Given the description of an element on the screen output the (x, y) to click on. 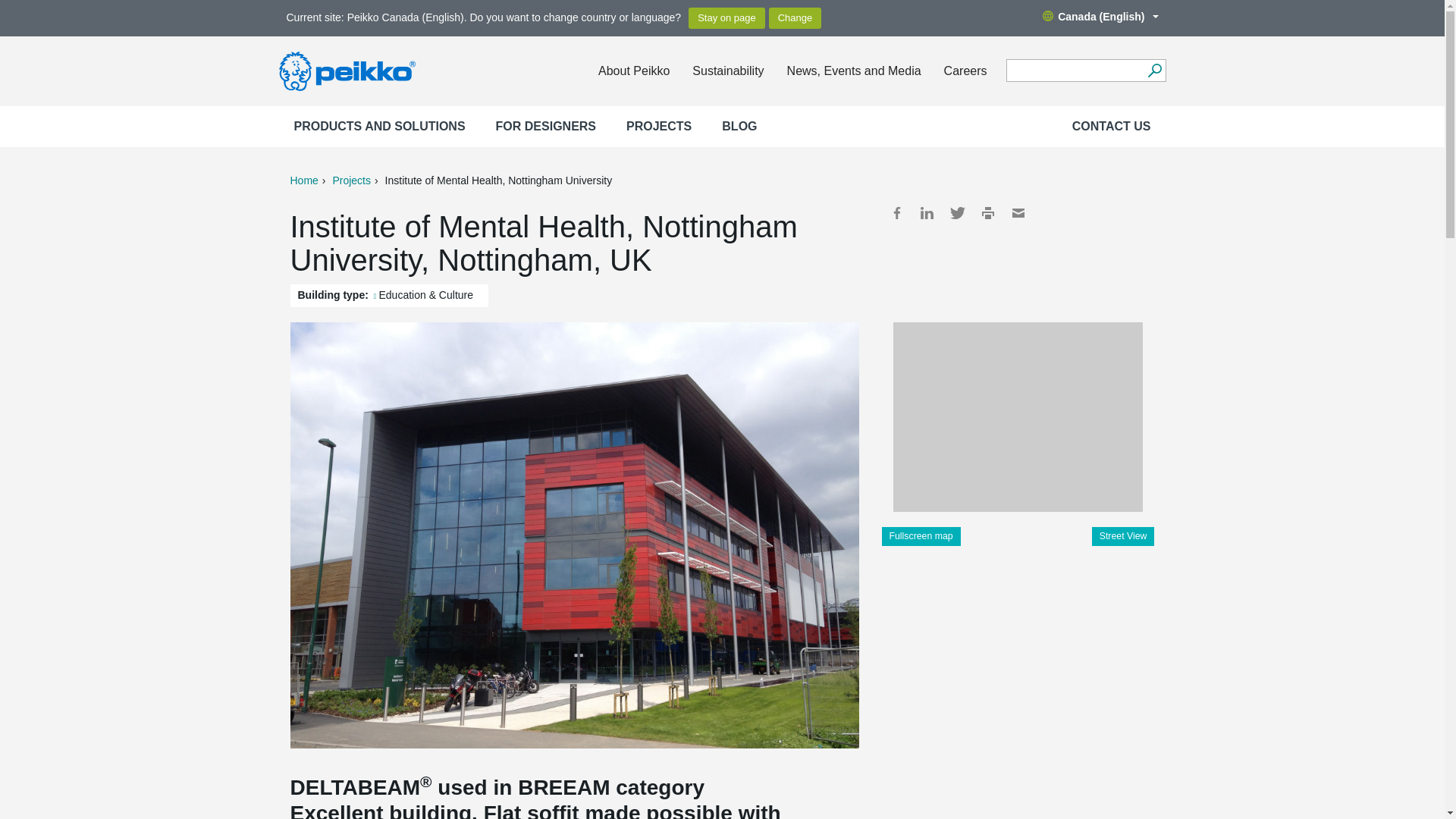
Stay on page (726, 17)
Change (795, 17)
Email link (1017, 212)
